Given the description of an element on the screen output the (x, y) to click on. 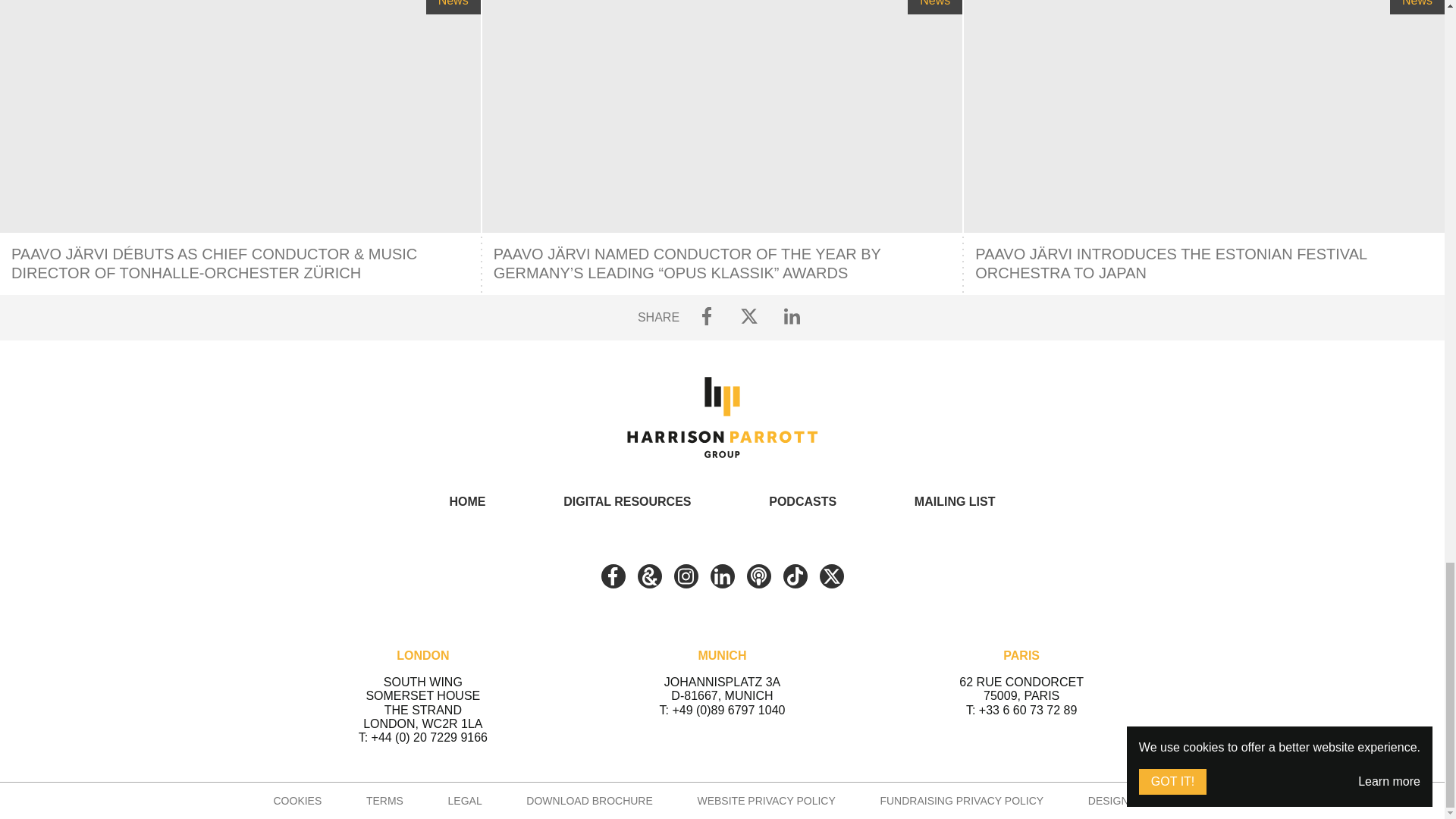
LINKEDIN (721, 576)
TWITTER (830, 576)
DIGITAL RESOURCES (626, 501)
TERMS (384, 800)
GOOGLE ARTS AND CULTURE (649, 576)
LEGAL (464, 800)
Linkedin (721, 576)
DOWNLOAD BROCHURE (588, 800)
PODCASTS (801, 501)
Google Arts and Culture (649, 576)
INSTAGRAM (684, 576)
WEBSITE PRIVACY POLICY (765, 800)
Twitter (830, 576)
MAILING LIST (954, 501)
Instagram (684, 576)
